Given the description of an element on the screen output the (x, y) to click on. 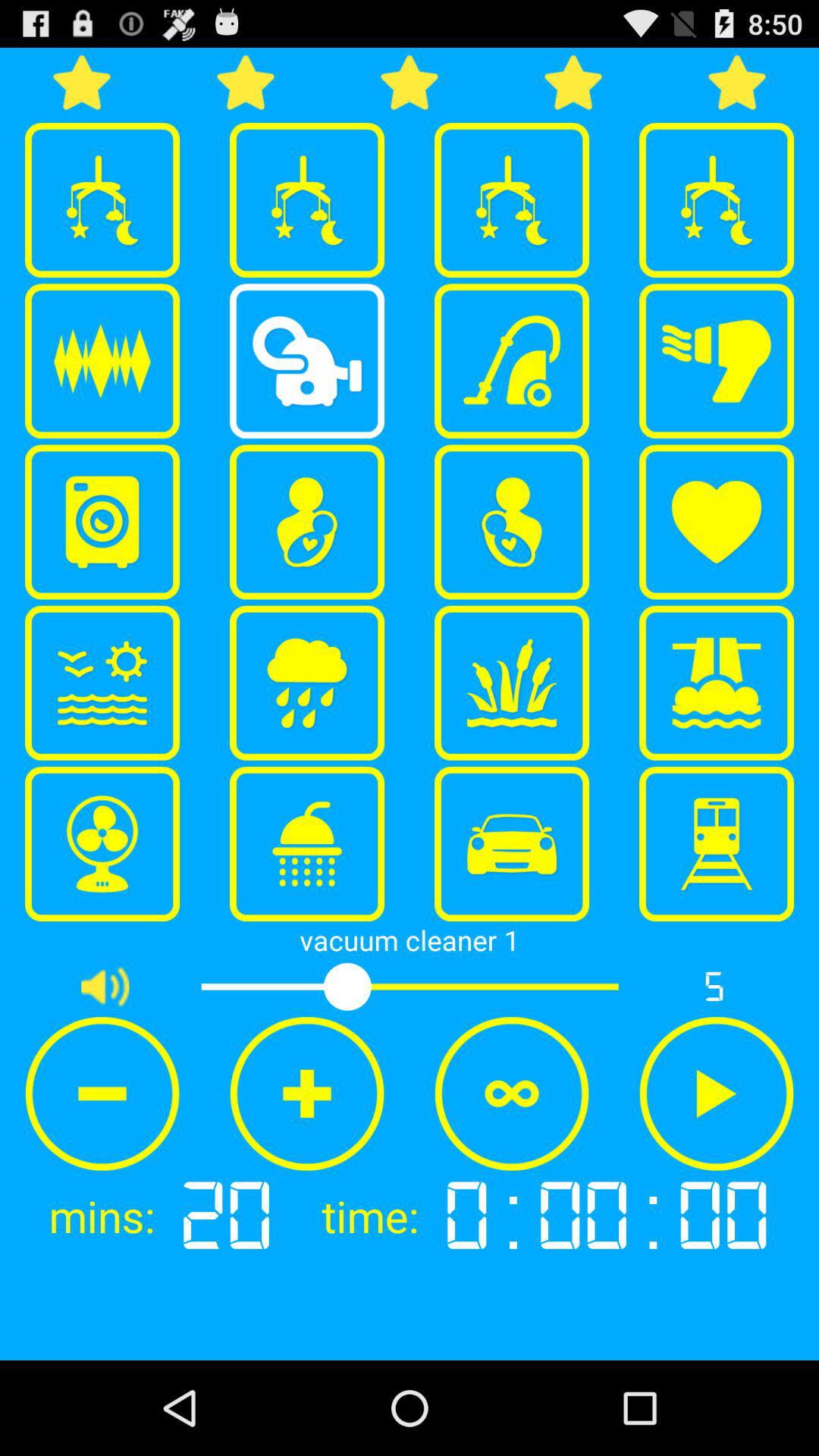
turn off icon above the mins: (102, 1093)
